Given the description of an element on the screen output the (x, y) to click on. 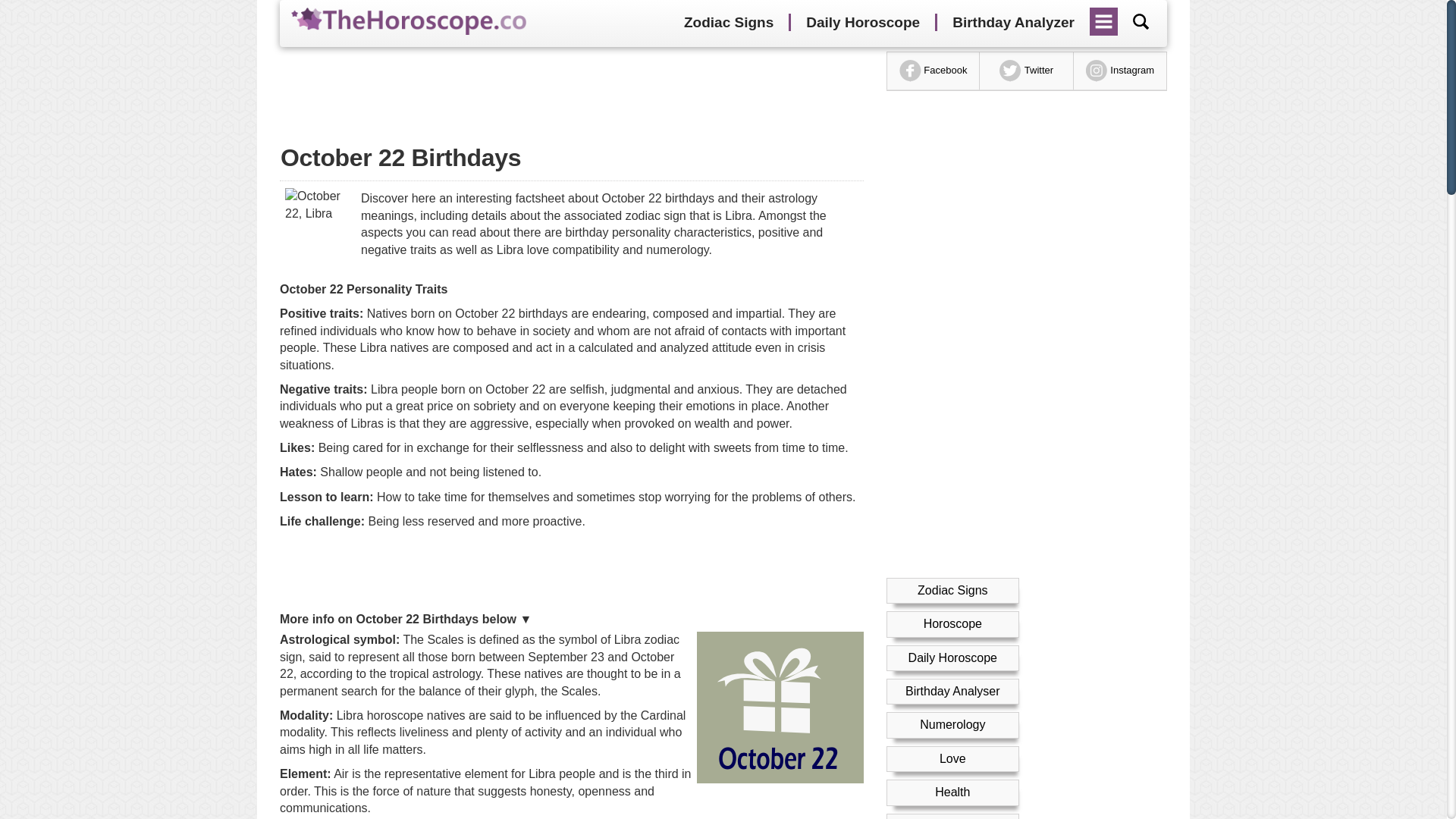
Zodiac Signs (728, 22)
Menu (1104, 16)
Search by your birthday... (1140, 21)
Daily Horoscope (862, 22)
Birthday Analyzer (1013, 22)
